Given the description of an element on the screen output the (x, y) to click on. 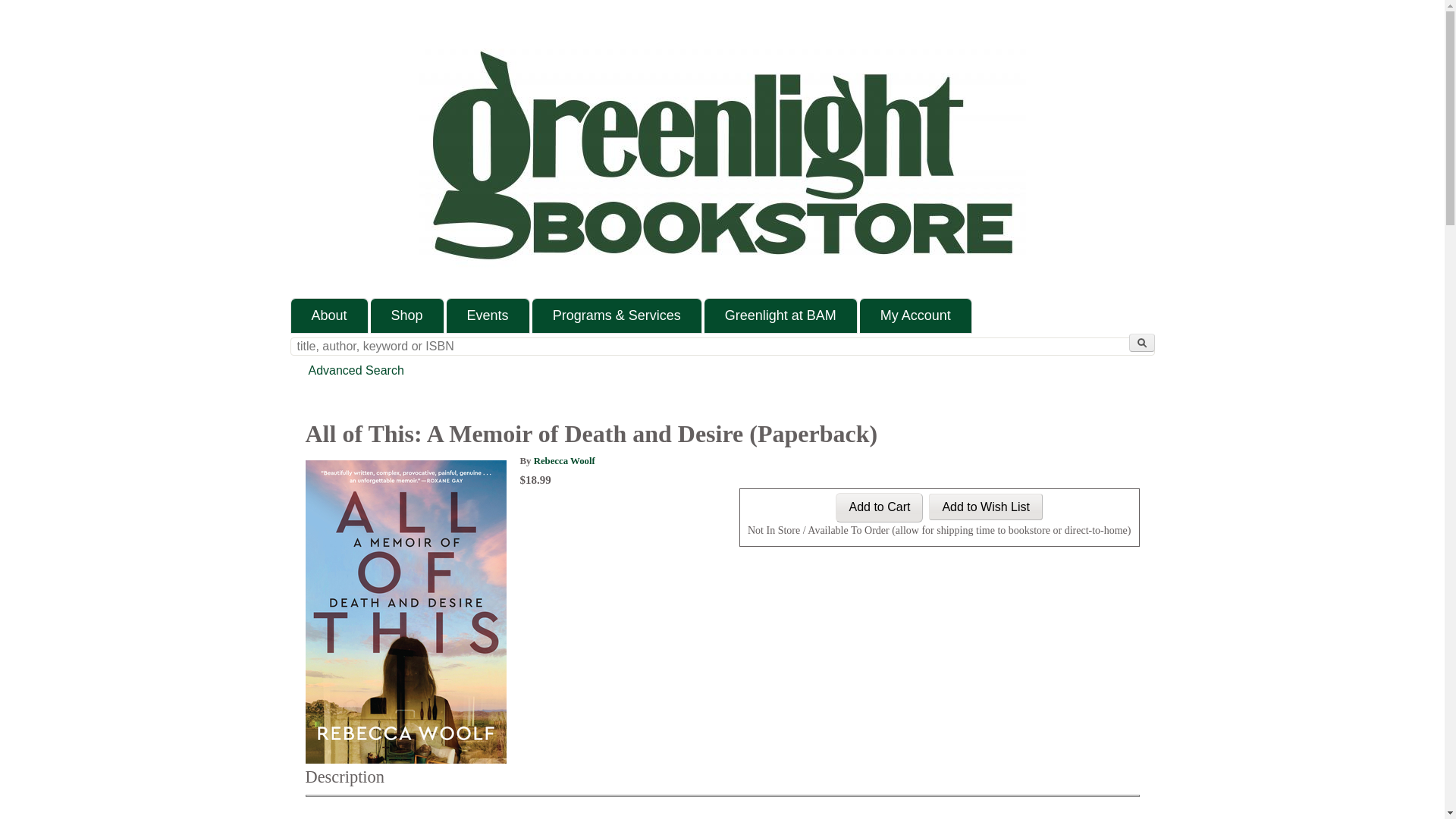
About (329, 315)
Shop (407, 315)
Search (1141, 342)
Add to Cart (879, 507)
